Given the description of an element on the screen output the (x, y) to click on. 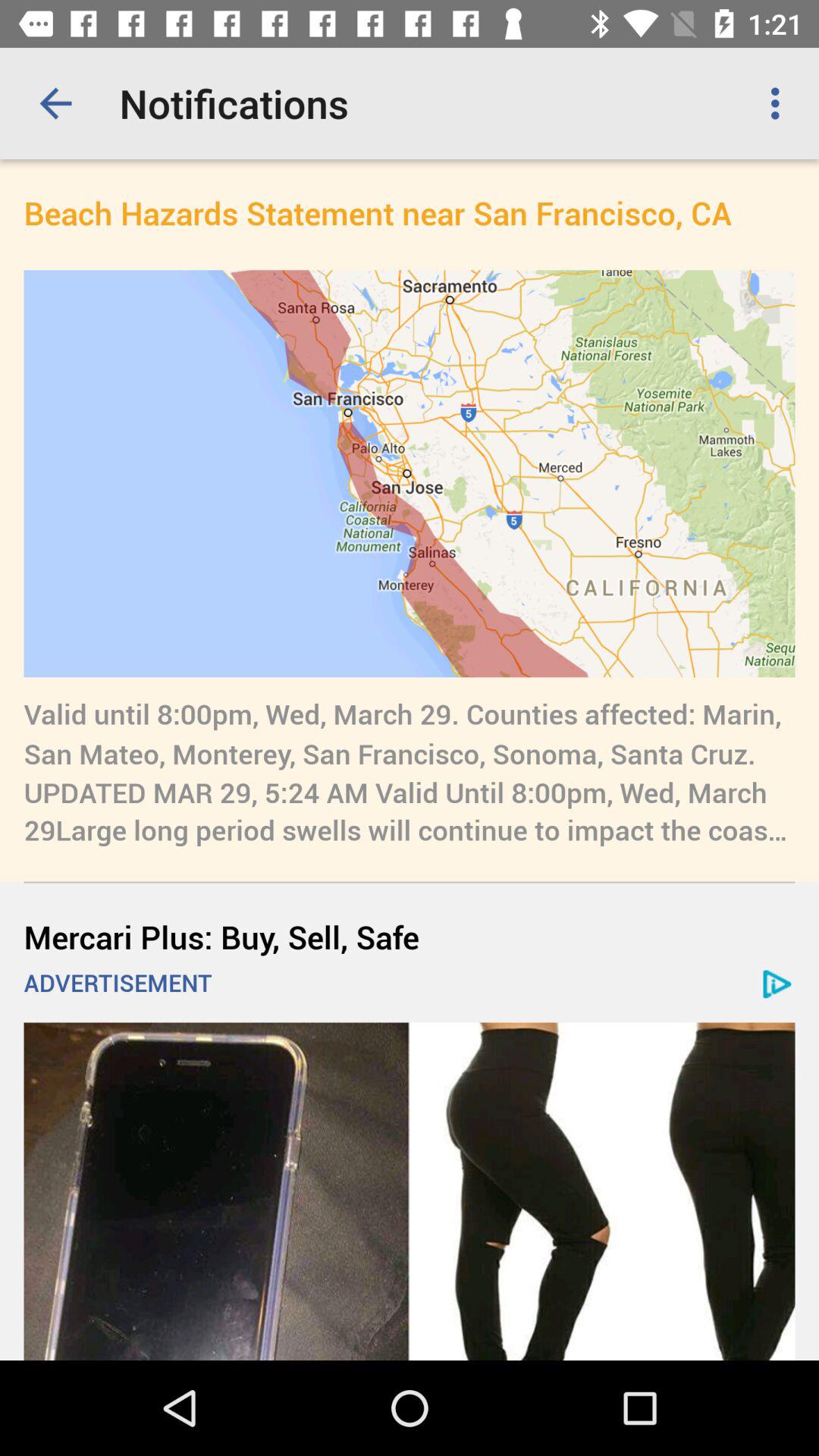
advertisement (409, 1191)
